Given the description of an element on the screen output the (x, y) to click on. 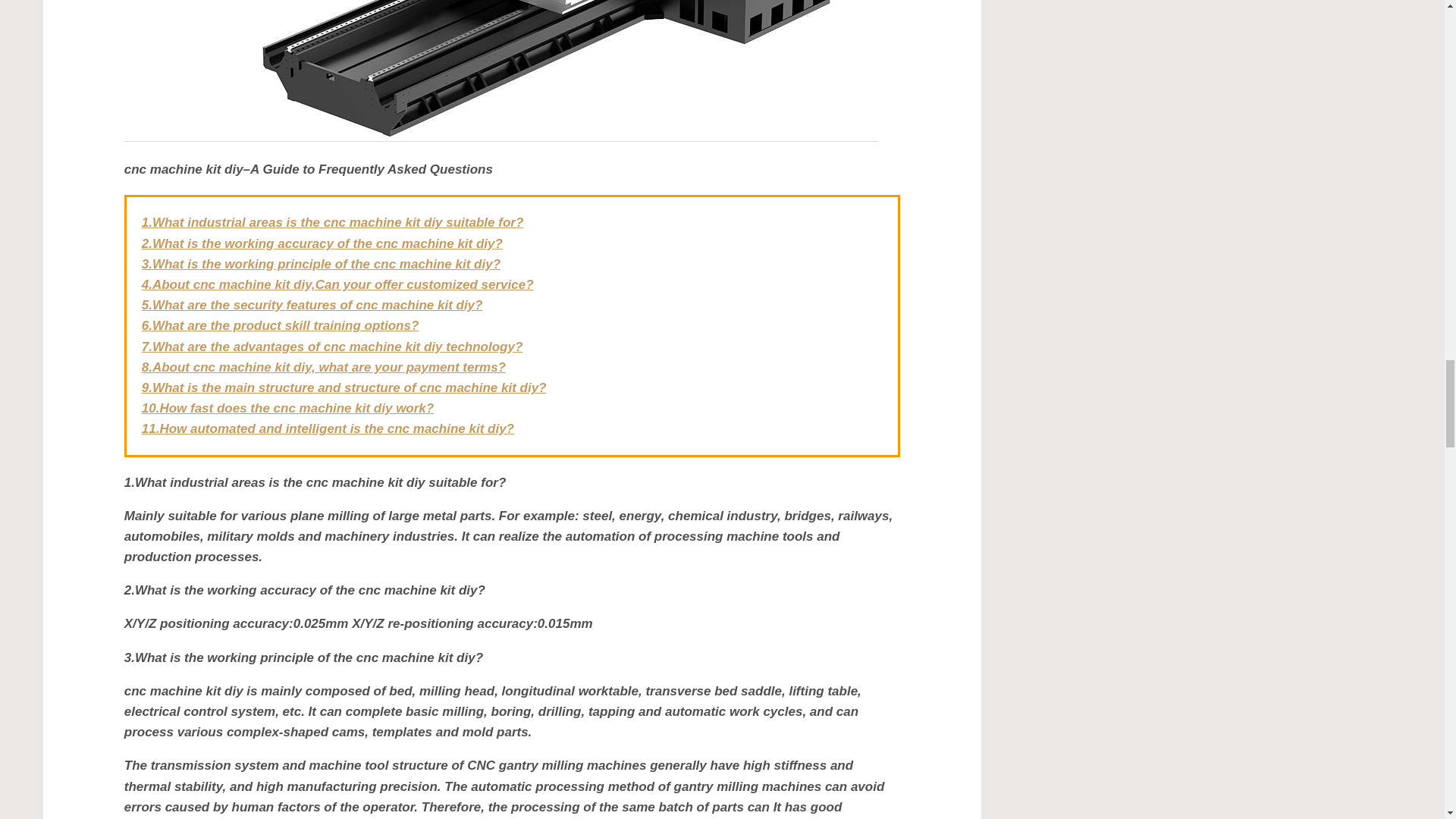
cnc machine kit diy (500, 73)
